Given the description of an element on the screen output the (x, y) to click on. 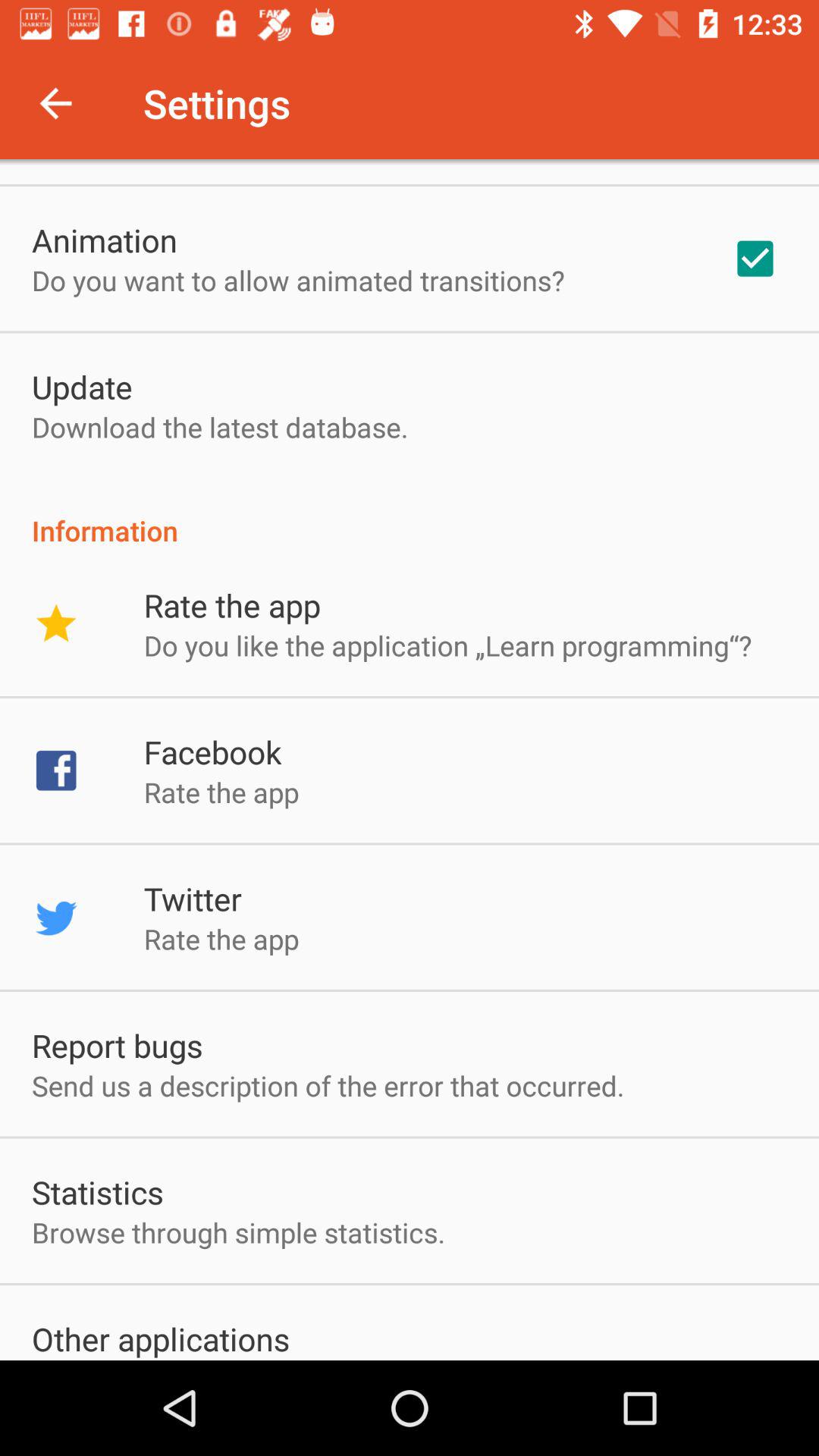
select the update item (81, 386)
